Given the description of an element on the screen output the (x, y) to click on. 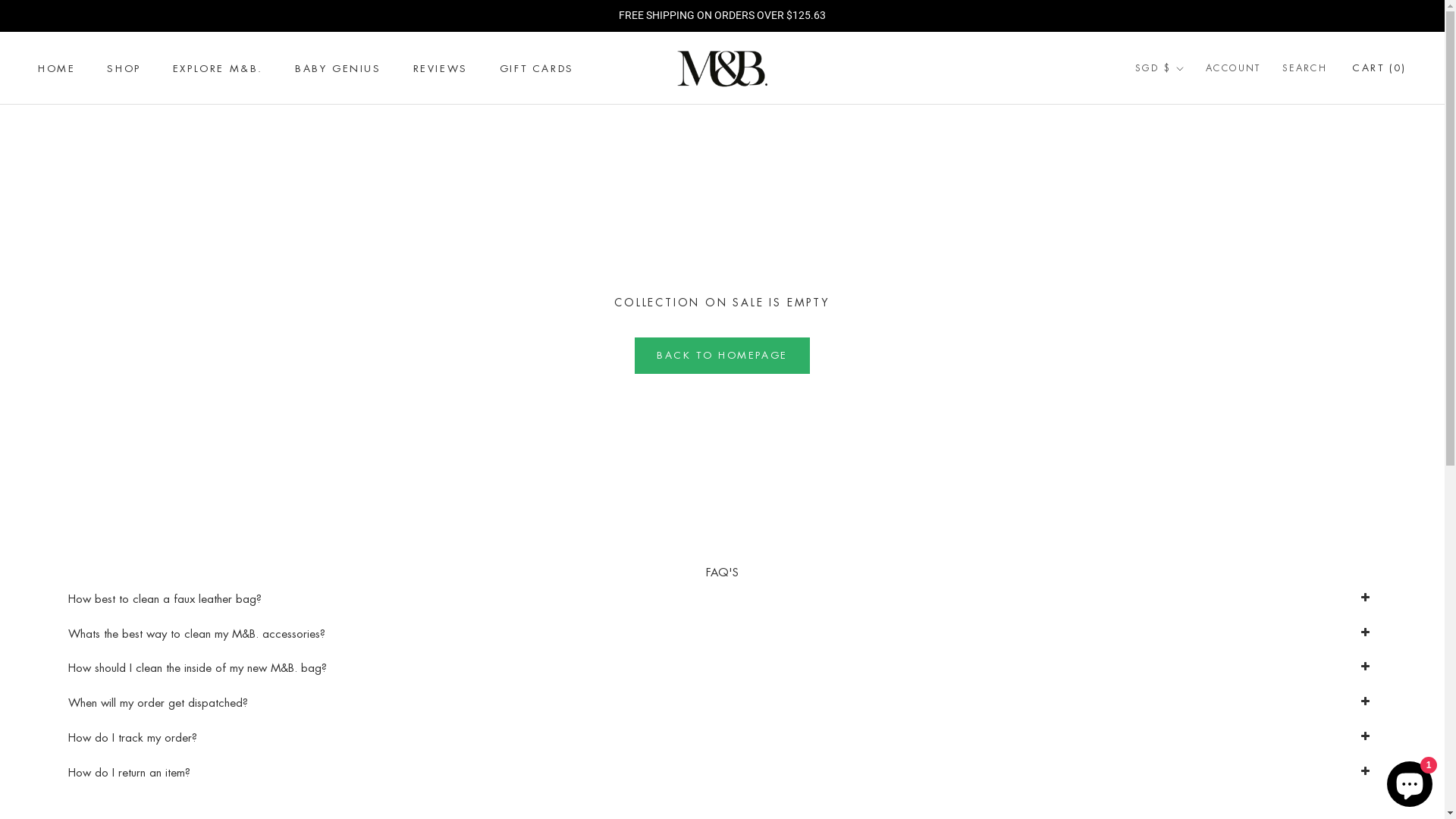
SEARCH Element type: text (1304, 68)
JPY Element type: text (1177, 193)
Shopify online store chat Element type: hover (1409, 780)
GIFT CARDS
GIFT CARDS Element type: text (536, 68)
ACCOUNT Element type: text (1233, 68)
NZD Element type: text (1177, 215)
CART (0) Element type: text (1379, 67)
REVIEWS
REVIEWS Element type: text (440, 68)
SGD Element type: text (1177, 238)
GBP Element type: text (1177, 170)
USD Element type: text (1177, 260)
SGD $ Element type: text (1159, 68)
AUD Element type: text (1177, 102)
EXPLORE M&B. Element type: text (217, 68)
HOME
HOME Element type: text (56, 68)
CAD Element type: text (1177, 125)
SHOP Element type: text (123, 68)
EUR Element type: text (1177, 147)
BABY GENIUS Element type: text (337, 68)
BACK TO HOMEPAGE Element type: text (721, 355)
